Given the description of an element on the screen output the (x, y) to click on. 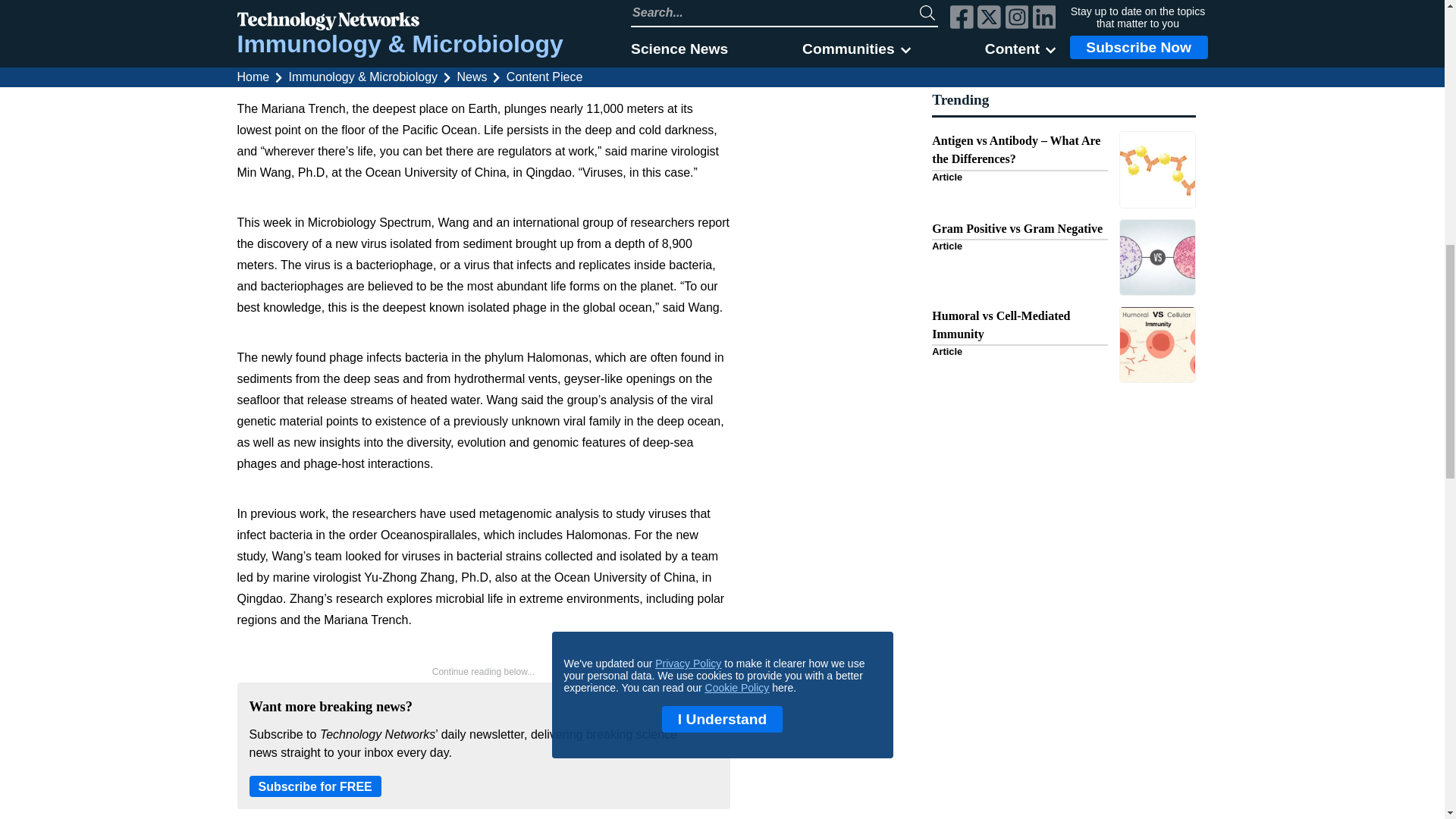
Click to view "Humoral vs Cell-Mediated Immunity" (1063, 343)
Click to view "Gram Positive vs Gram Negative" (1063, 256)
